Given the description of an element on the screen output the (x, y) to click on. 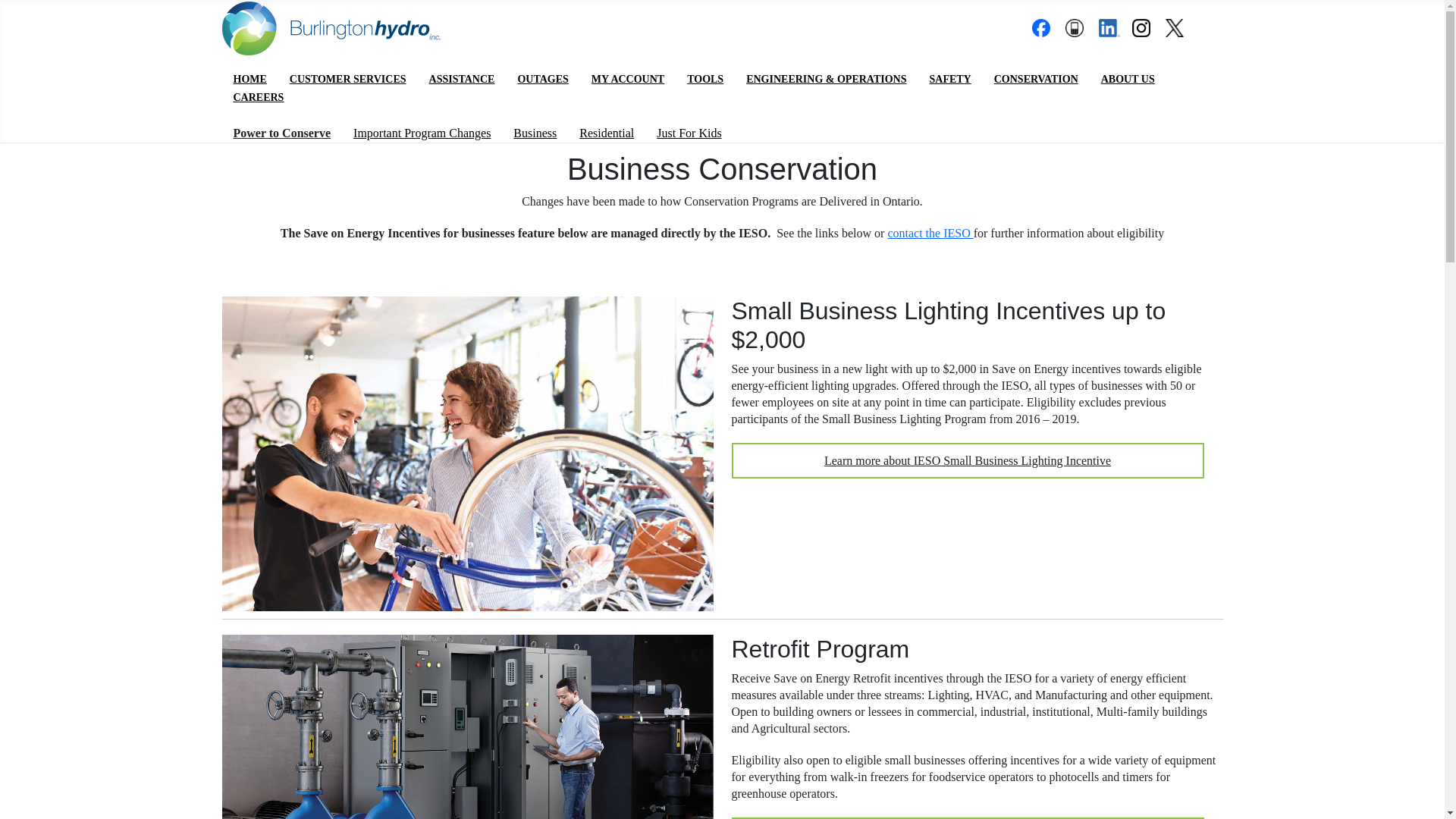
TOOLS (704, 79)
Important Program Changes (421, 132)
OUTAGES (542, 79)
ABOUT US (1127, 79)
SAFETY (949, 79)
Business (534, 132)
Just For Kids (689, 132)
Facebook (1039, 27)
HOME (250, 79)
ASSISTANCE (462, 79)
Power to Conserve (282, 132)
CAREERS (258, 97)
CONSERVATION (1036, 79)
MY ACCOUNT (627, 79)
